Given the description of an element on the screen output the (x, y) to click on. 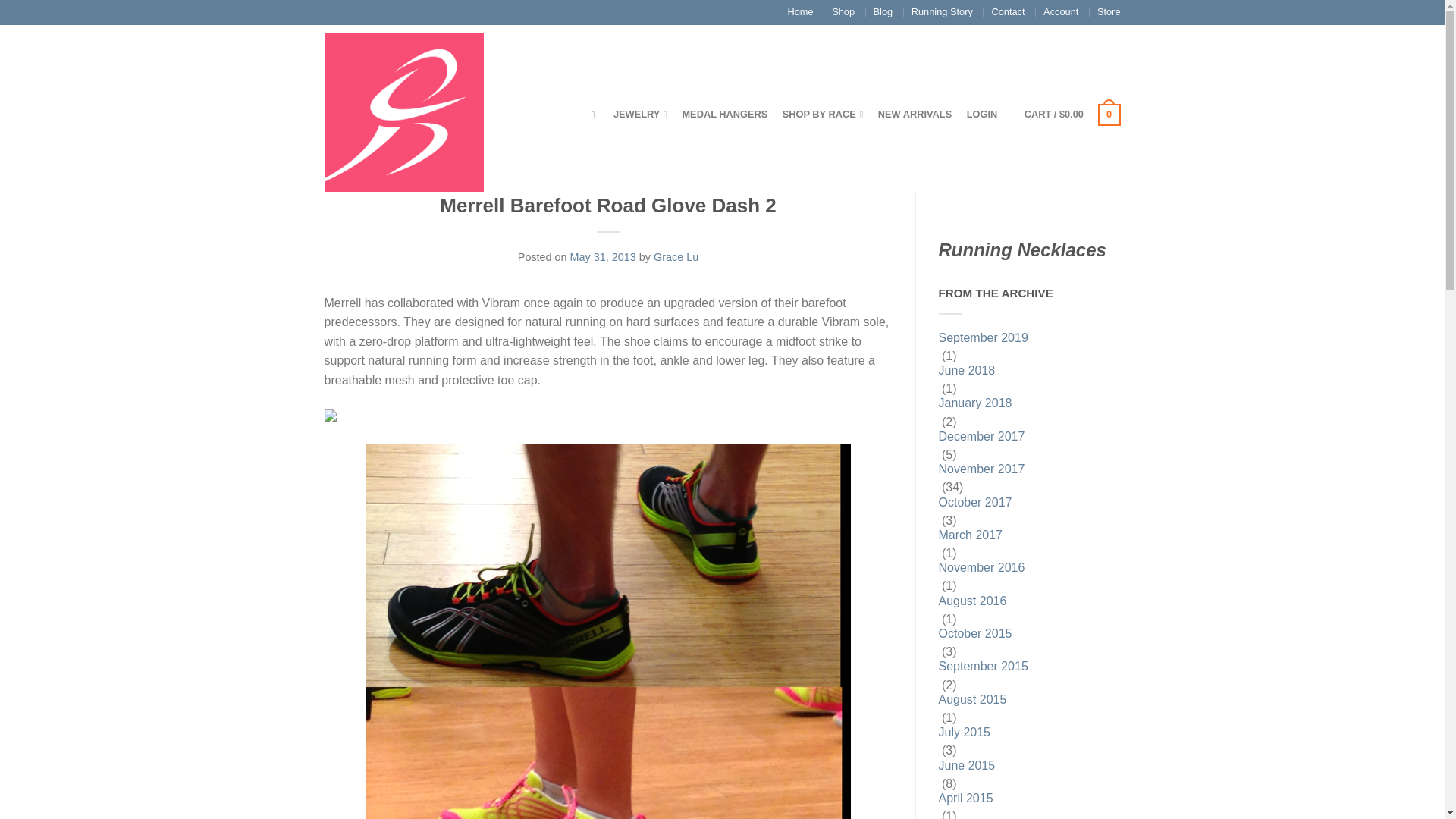
LOGIN (981, 113)
Account (1060, 11)
Favorite Run - The Gift of Running (397, 12)
Contact (1008, 11)
Home (799, 11)
Store (1109, 11)
JEWELRY (639, 113)
Blog (883, 11)
May 31, 2013 (603, 256)
Shop (842, 11)
Running Story (941, 11)
NEW ARRIVALS (914, 113)
Grace Lu (675, 256)
FavoriteRunShop - Favorite Run Shop (403, 108)
MEDAL HANGERS (724, 113)
